Given the description of an element on the screen output the (x, y) to click on. 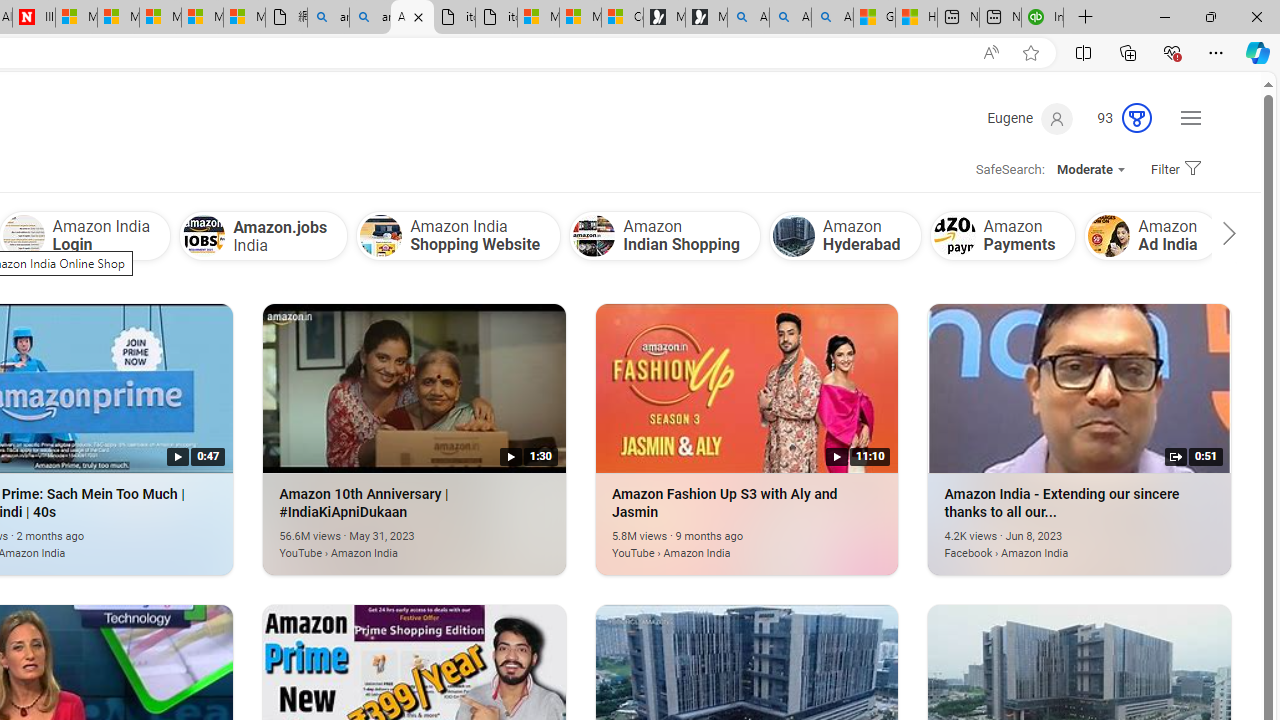
Moderate SafeSearch: (1090, 169)
Amazon Indian Shopping (594, 236)
Amazon India - Extending our sincere thanks to all our... (1079, 388)
Amazon Fashion Up S3 with Aly and Jasmin (717, 542)
Settings and quick links (1190, 117)
Amazon.com India Online Shopping (1251, 236)
Amazon India - Search Videos (411, 17)
Amazon.jobs India (264, 235)
Scroll right (1224, 236)
Amazon Payments (1003, 235)
Intuit QuickBooks Online - Quickbooks (1042, 17)
